Given the description of an element on the screen output the (x, y) to click on. 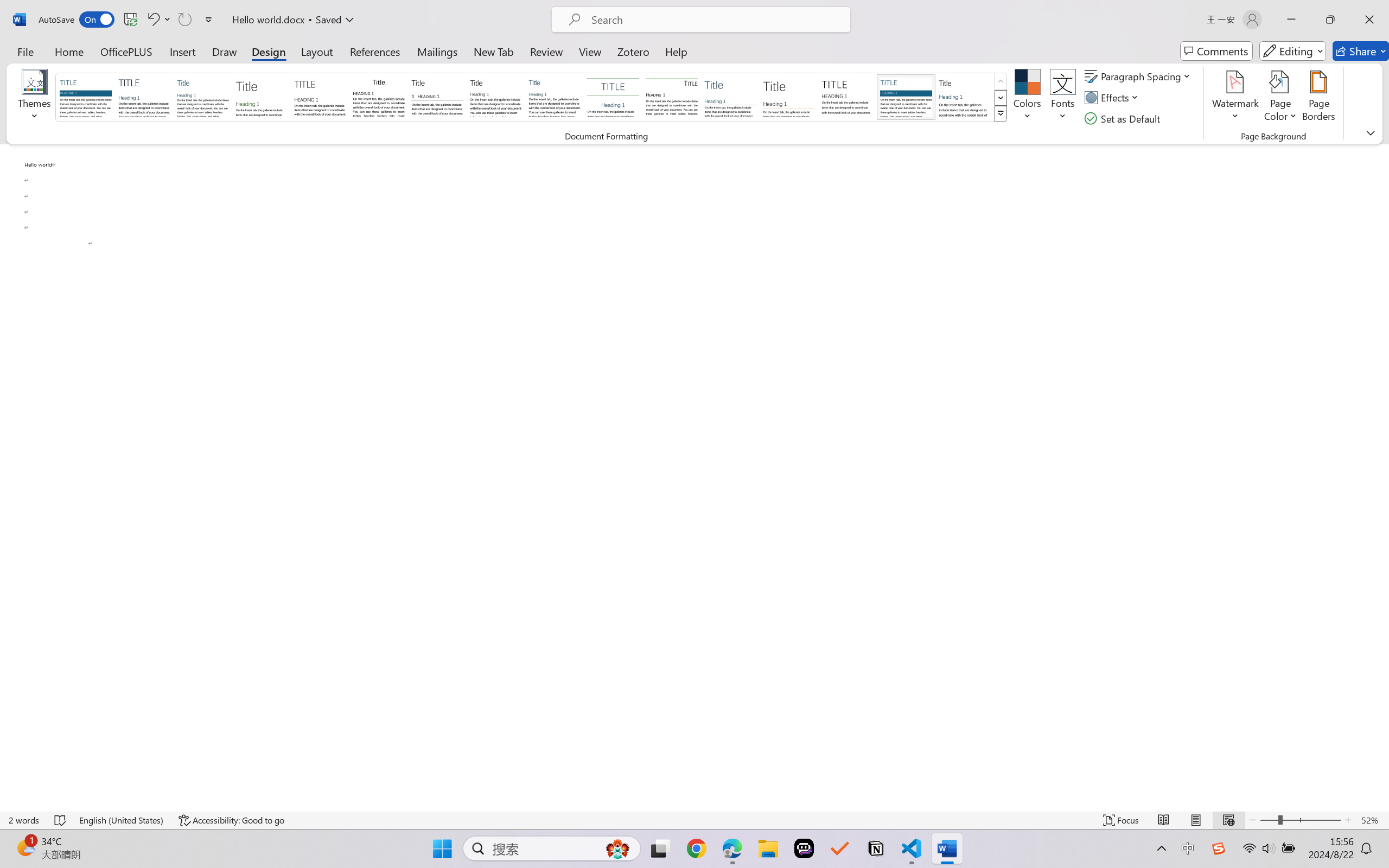
Black & White (Word 2013) (495, 96)
Document (85, 96)
More Options (167, 19)
Basic (Elegant) (144, 96)
Design (268, 51)
OfficePLUS (126, 51)
Set as Default (1124, 118)
Accessibility Checker Accessibility: Good to go (231, 819)
Lines (Simple) (730, 96)
Web Layout (1228, 819)
Page Borders... (1318, 97)
Fonts (1062, 97)
